Given the description of an element on the screen output the (x, y) to click on. 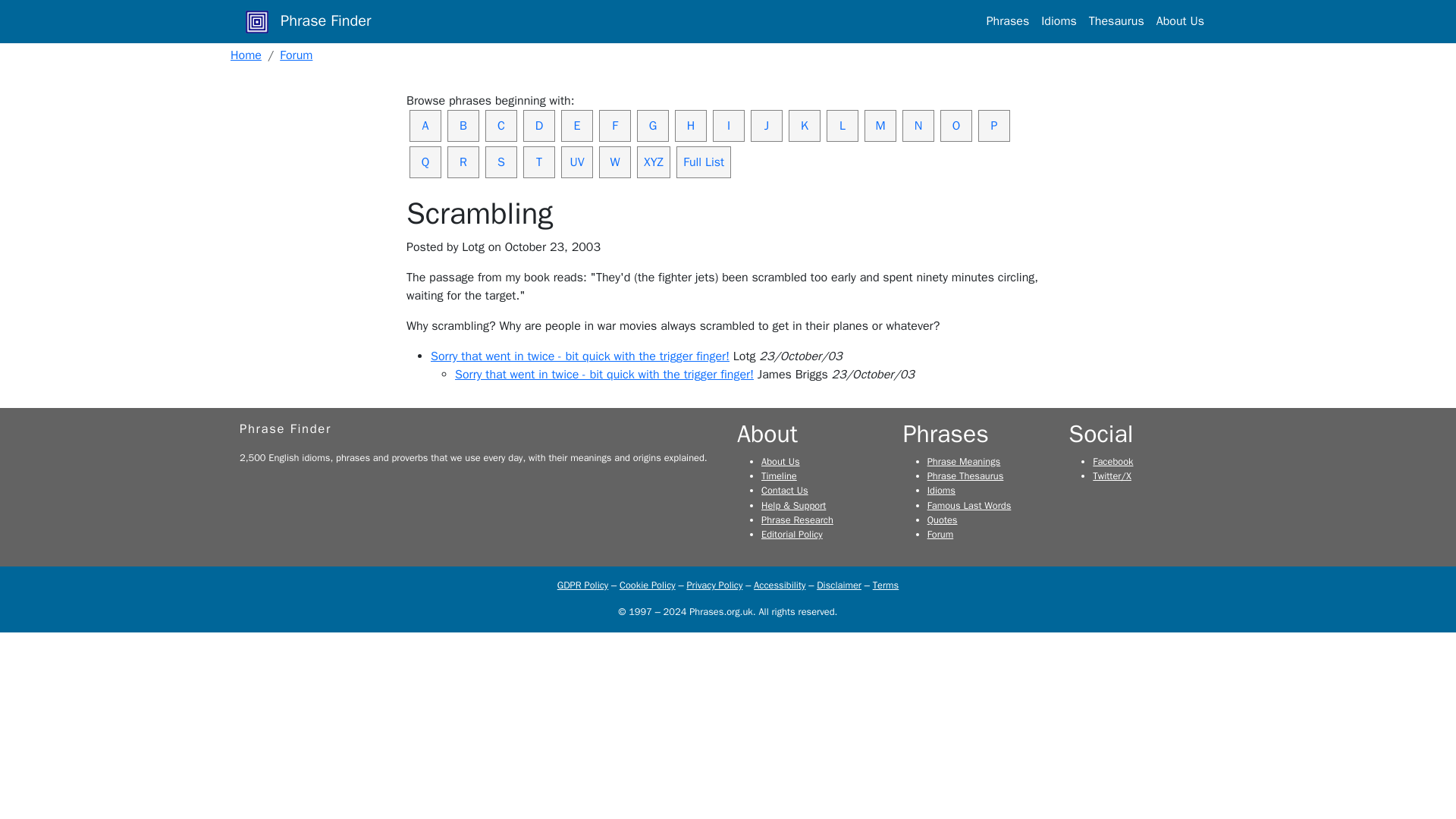
Timeline (778, 476)
Sayings and idioms that begin with the letter J (767, 125)
Sayings and idioms that begin with the letter D (538, 125)
About Us (780, 461)
S (500, 162)
N (918, 125)
L (843, 125)
Thesaurus (1116, 20)
Sayings and idioms that begin with the letter T (538, 162)
Home (246, 55)
Contact Us (784, 490)
Phrase Finder (308, 20)
K (805, 125)
Sayings and idioms that begin with the letter G (652, 125)
Sayings and idioms that begin with the letter A (425, 125)
